Given the description of an element on the screen output the (x, y) to click on. 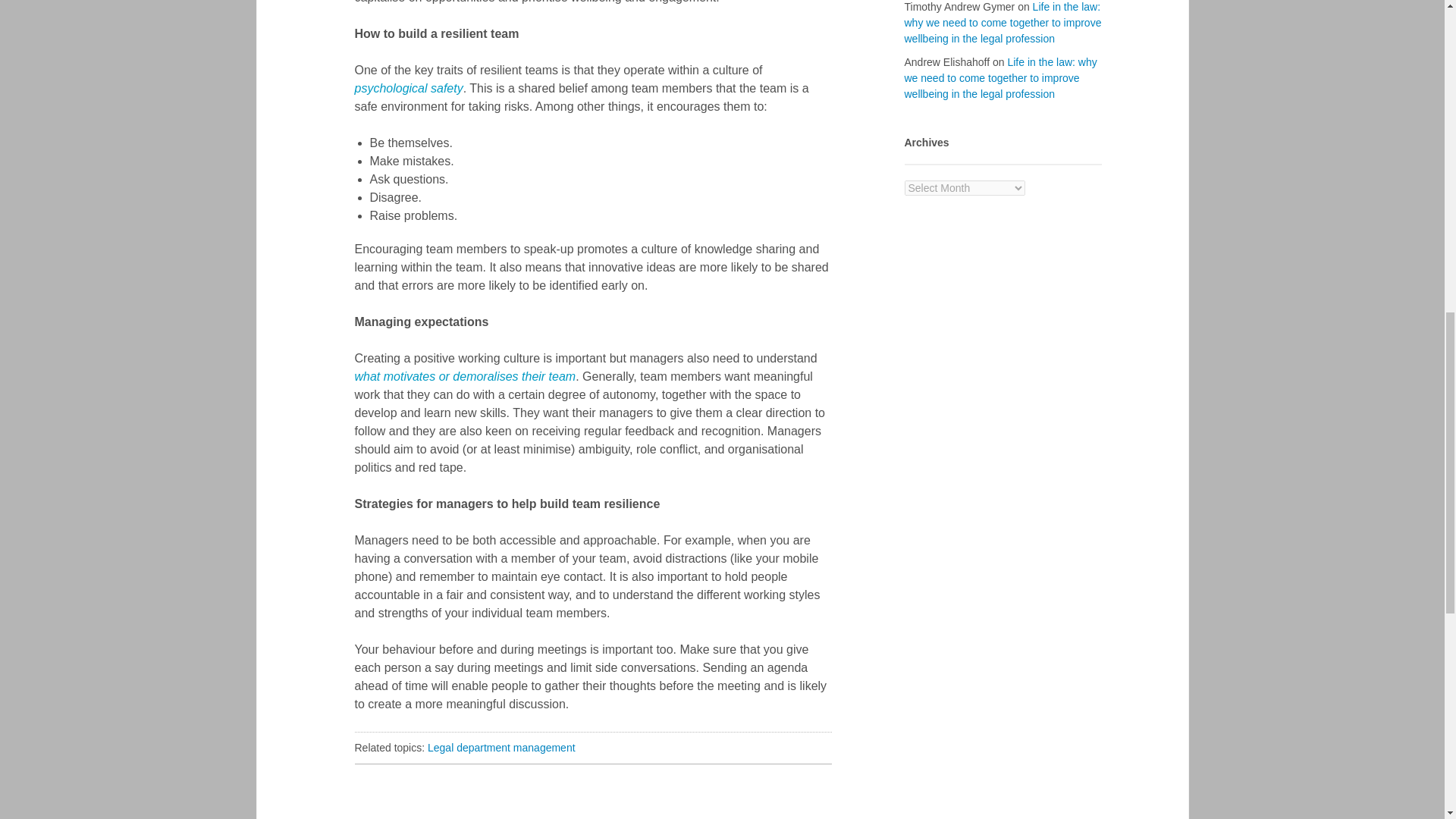
what motivates or demoralises their team (465, 376)
Legal department management (501, 747)
psychological safety (409, 88)
